Given the description of an element on the screen output the (x, y) to click on. 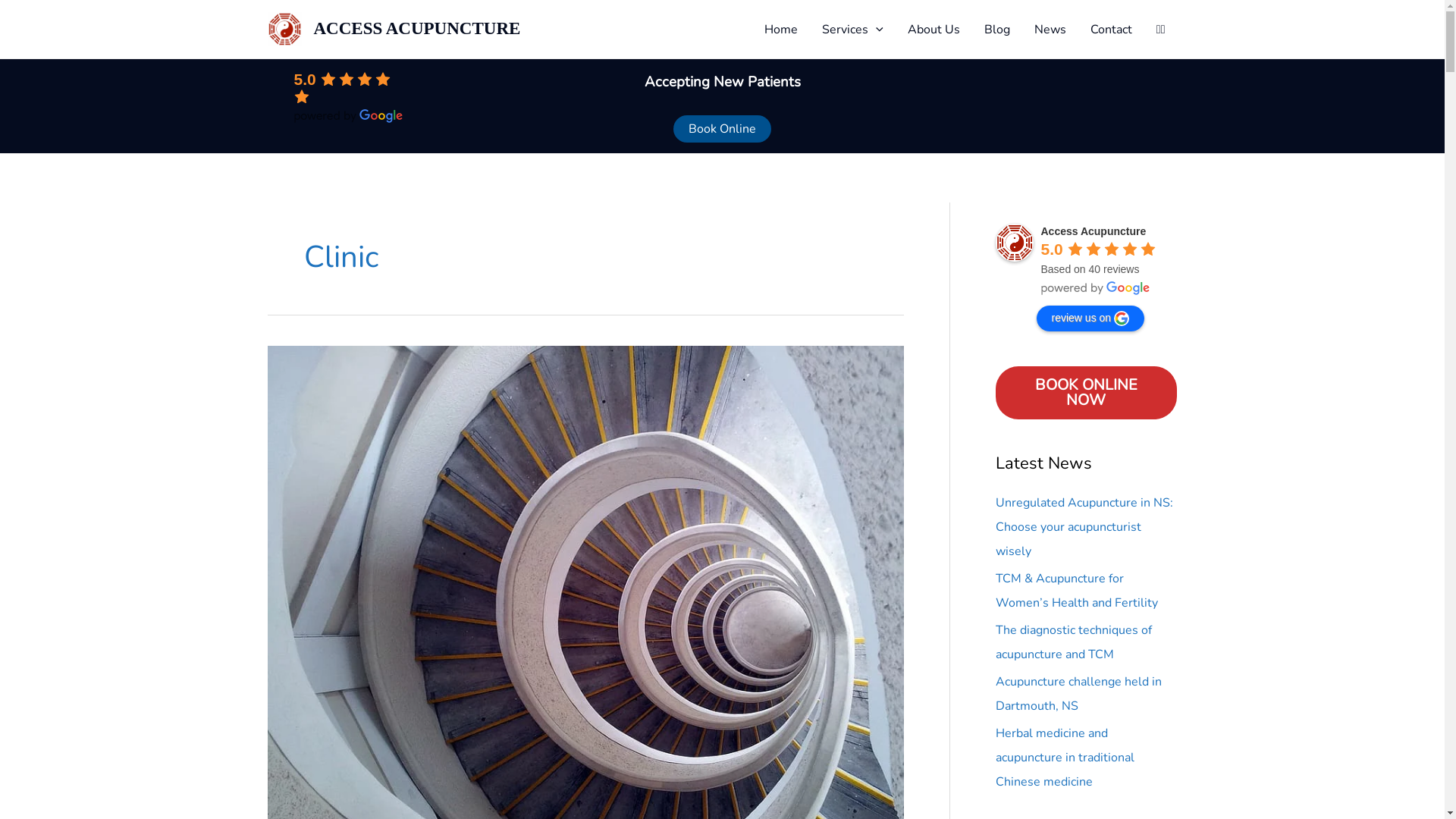
Access Acupuncture Element type: text (1092, 231)
review us on Element type: text (1089, 318)
Access Acupuncture Element type: hover (1013, 242)
The diagnostic techniques of acupuncture and TCM Element type: text (1072, 641)
Acupuncture challenge held in Dartmouth, NS Element type: text (1077, 693)
ACCESS ACUPUNCTURE Element type: text (416, 27)
Book Online Element type: text (722, 128)
BOOK ONLINE NOW Element type: text (1085, 392)
powered by Google Element type: hover (348, 115)
Home Element type: text (780, 29)
News Element type: text (1050, 29)
Services Element type: text (852, 29)
Blog Element type: text (997, 29)
About Us Element type: text (933, 29)
Book Online Element type: text (722, 128)
powered by Google Element type: hover (1094, 287)
Contact Element type: text (1111, 29)
